Given the description of an element on the screen output the (x, y) to click on. 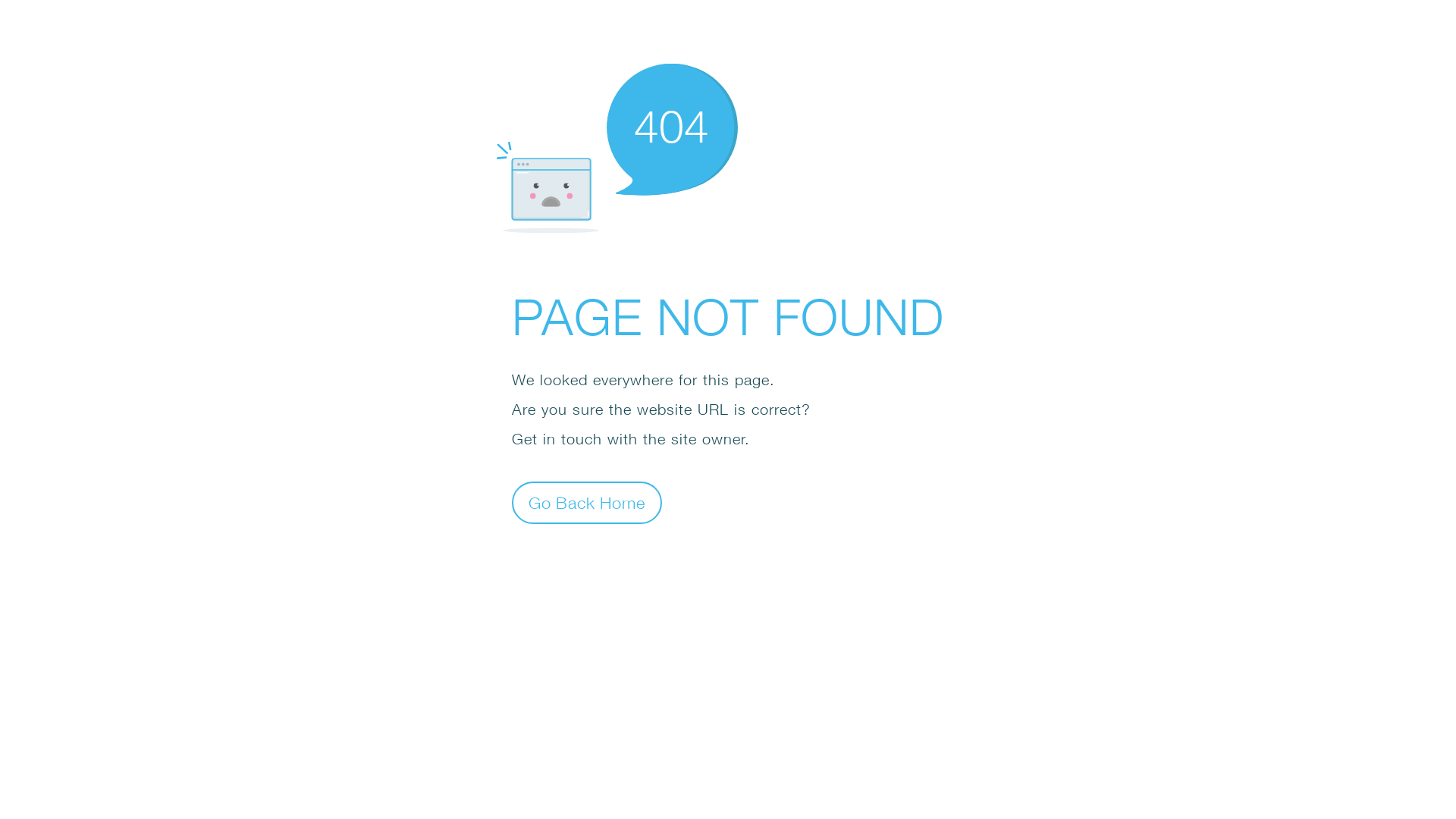
Go Back Home Element type: text (586, 502)
